Given the description of an element on the screen output the (x, y) to click on. 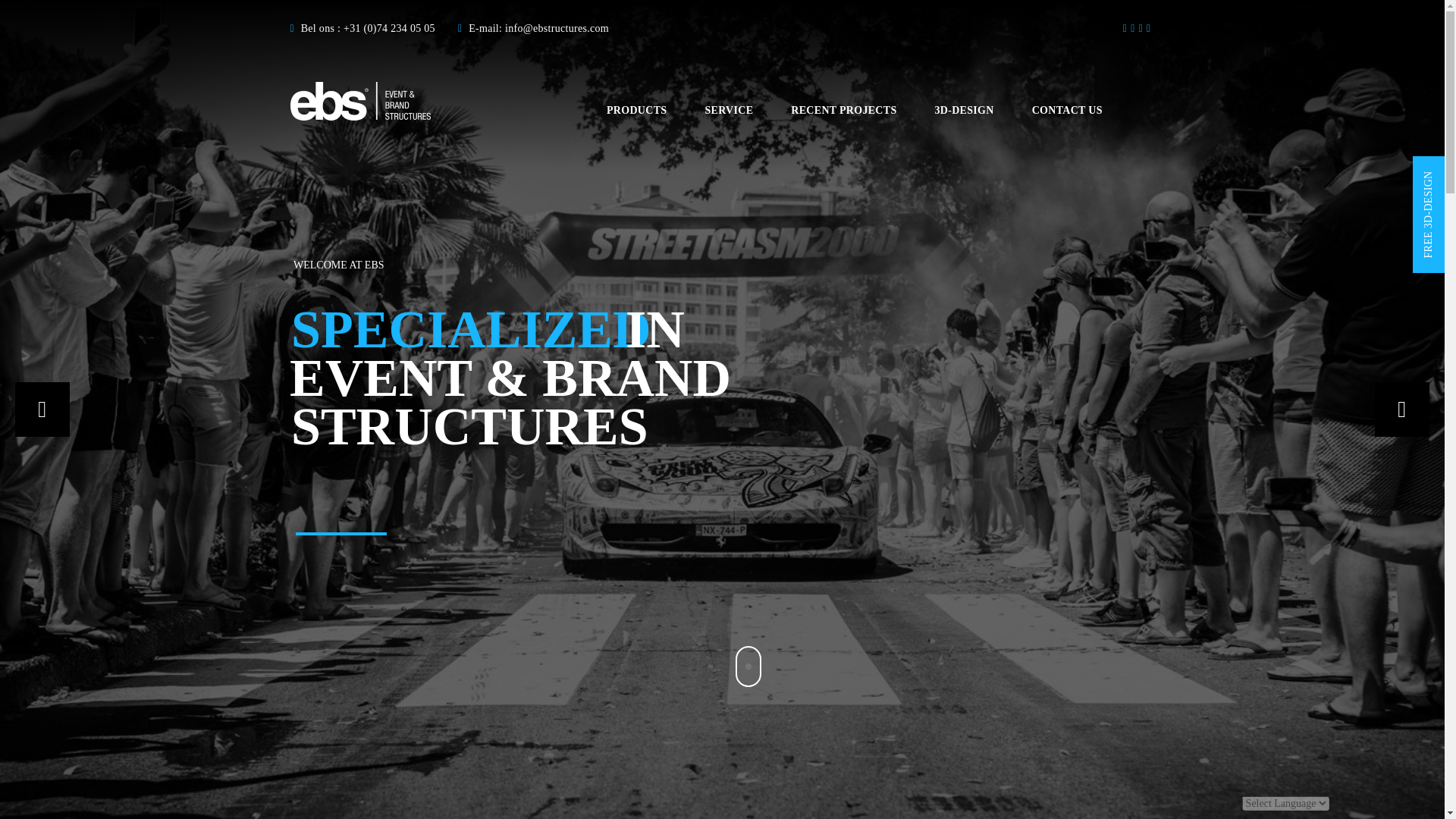
RECENT PROJECTS (843, 110)
